Given the description of an element on the screen output the (x, y) to click on. 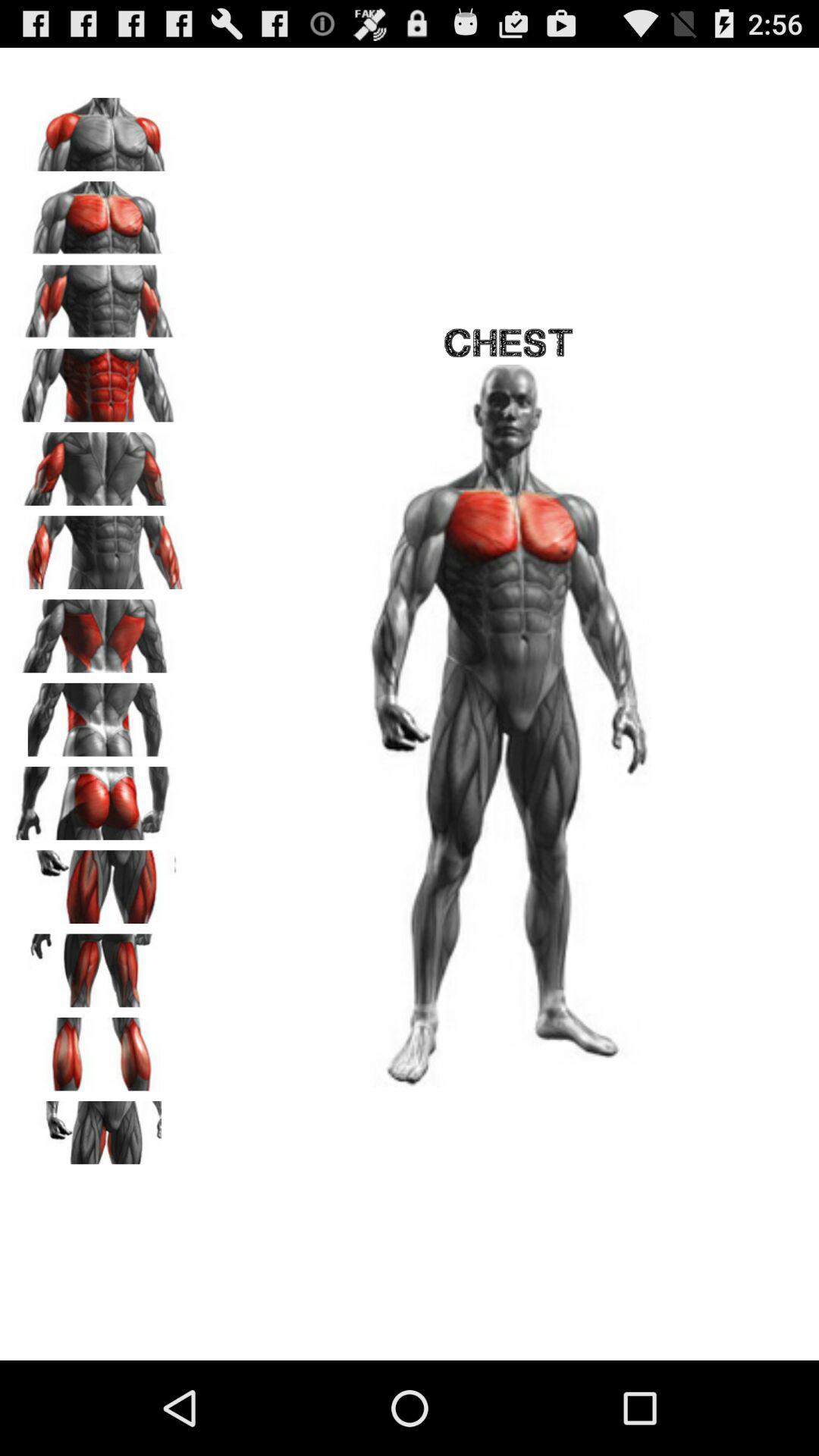
go to this location (99, 630)
